Given the description of an element on the screen output the (x, y) to click on. 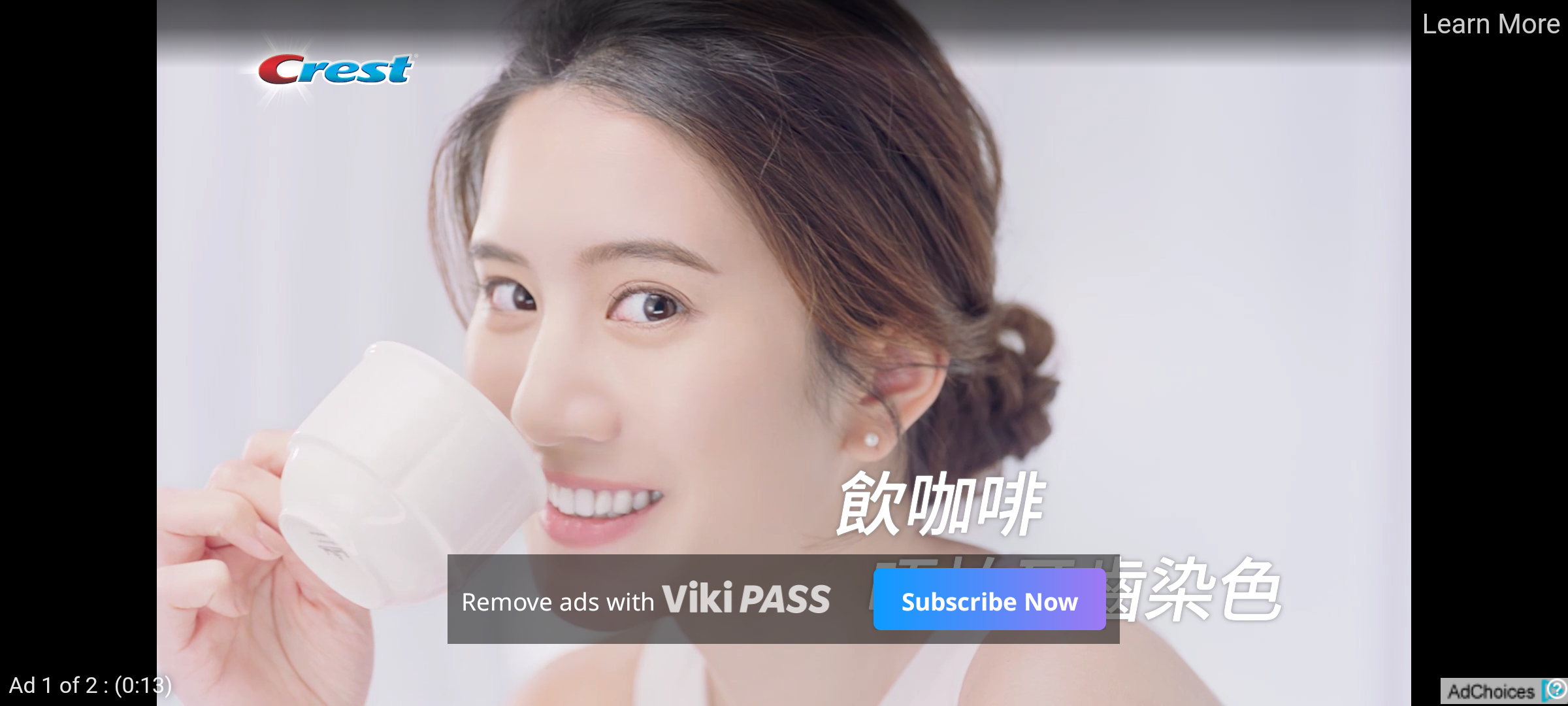
Learn More (1490, 24)
Subscribe Now (989, 599)
Ad 1 of 2 : (0:13) (90, 684)
help_outline_white_24dp_with_3px_trbl_padding (1553, 688)
get?name=admarker-full-tl (1504, 690)
